Given the description of an element on the screen output the (x, y) to click on. 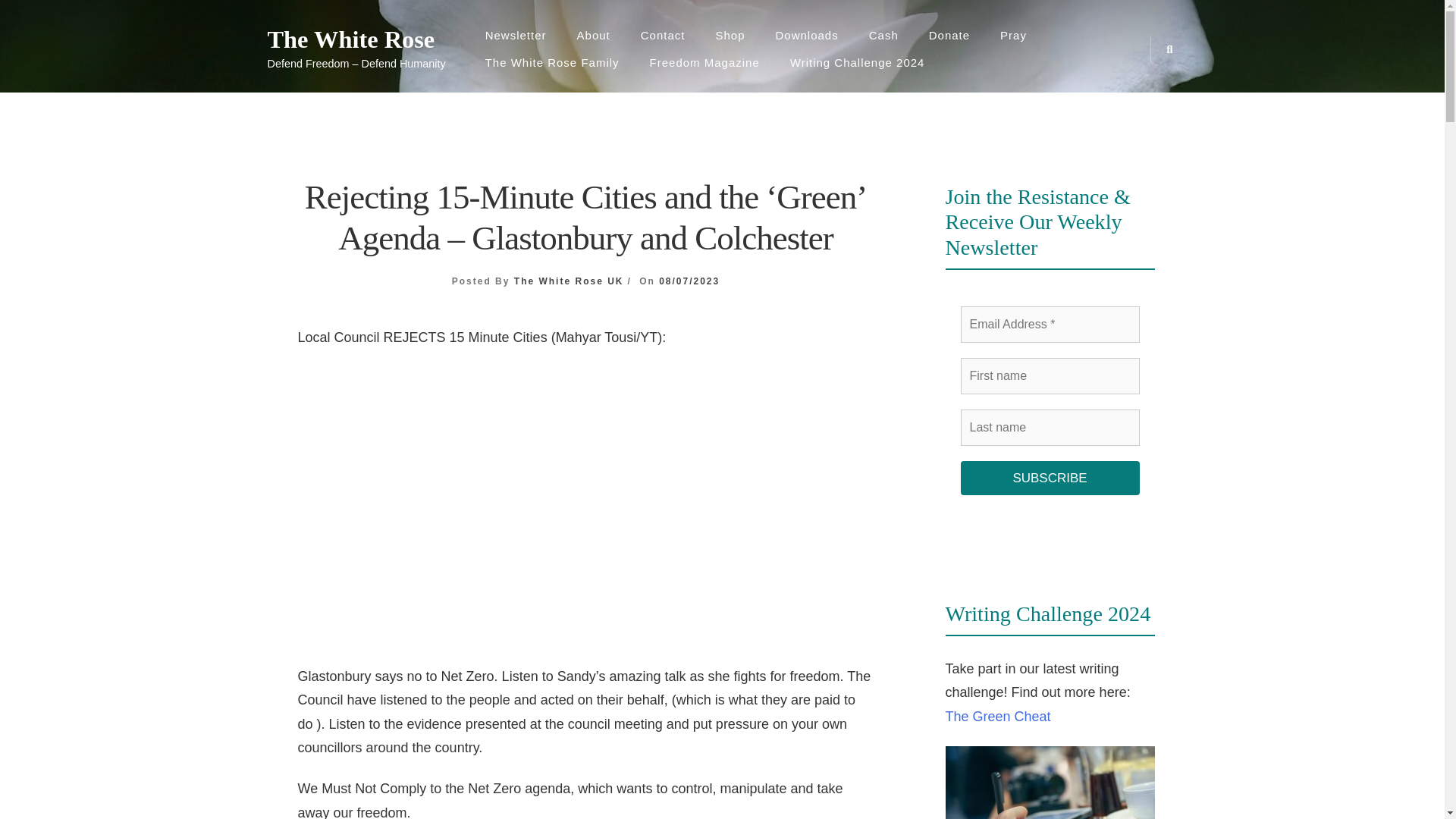
Downloads (806, 35)
First name (1048, 375)
Newsletter (516, 35)
Subscribe (1048, 478)
Contact (663, 35)
Shop (730, 35)
About (594, 35)
Donate (949, 35)
The White Rose Family (552, 62)
Cash (883, 35)
Writing Challenge 2024 (857, 62)
Subscribe (1048, 478)
Search (752, 429)
The White Rose UK (568, 281)
Last name (1048, 427)
